Given the description of an element on the screen output the (x, y) to click on. 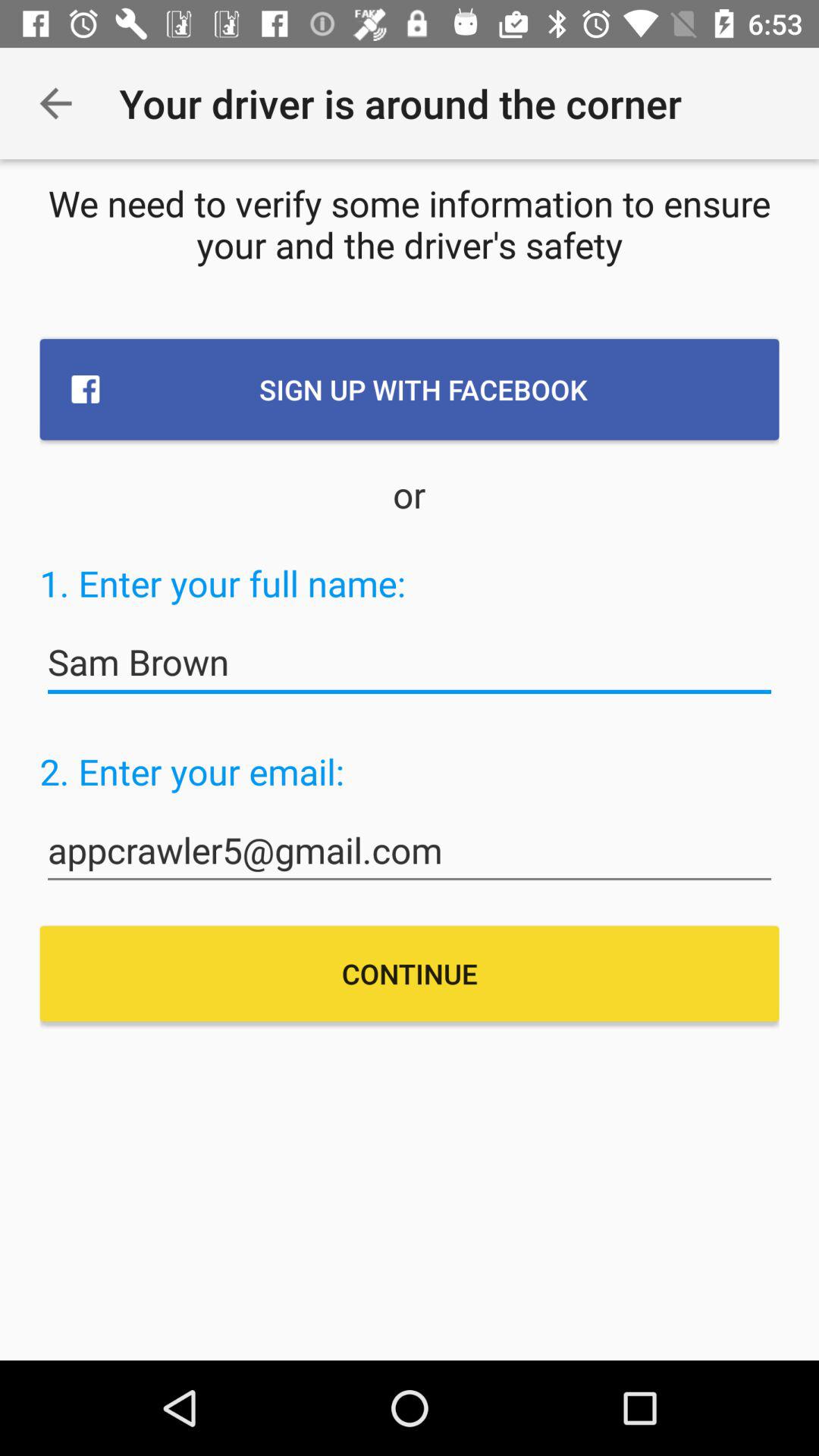
turn off the sam brown (409, 662)
